Given the description of an element on the screen output the (x, y) to click on. 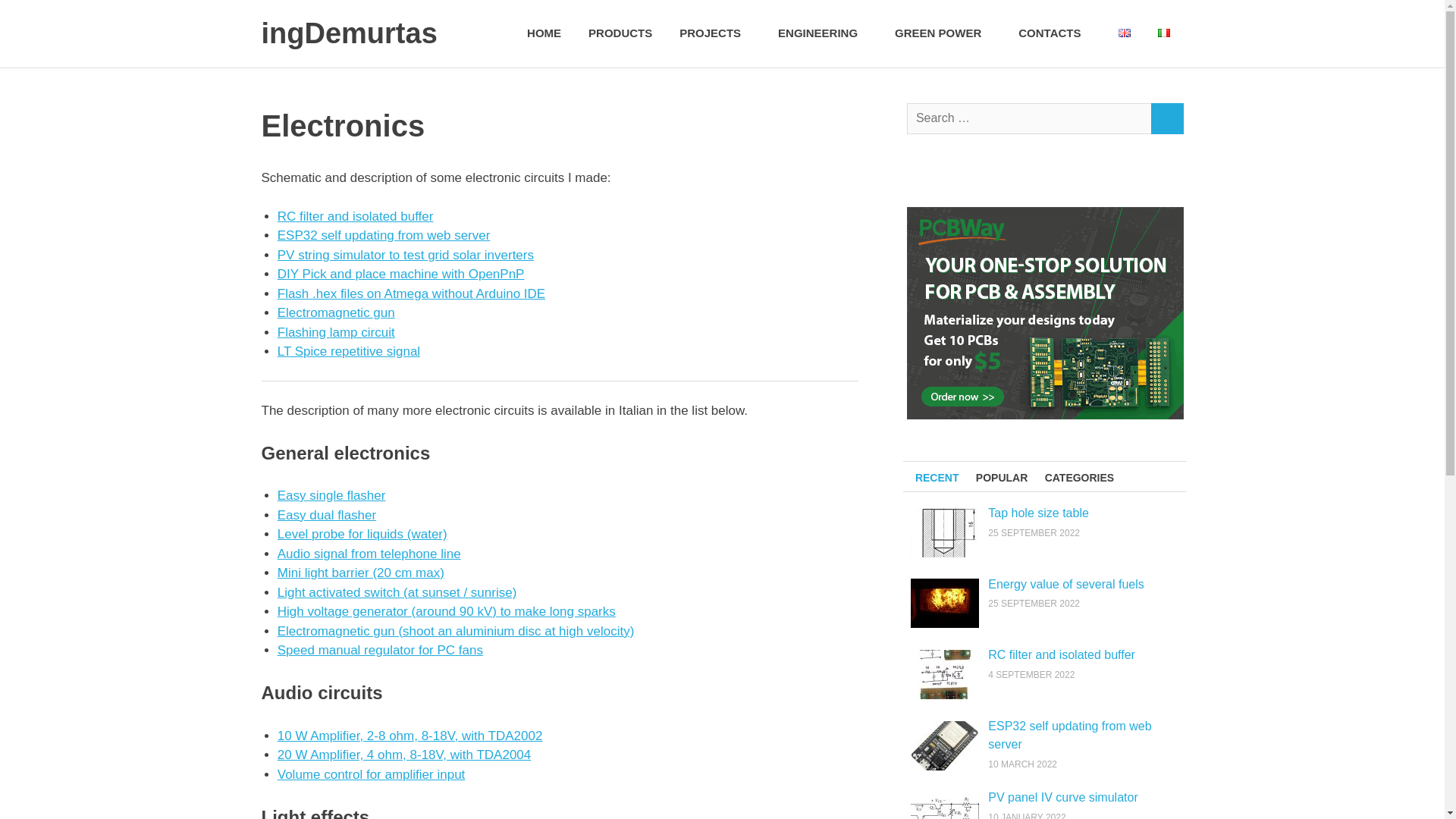
Tap hole size table (1038, 512)
PV string simulator to test grid solar inverters (406, 254)
CONTACTS (1053, 33)
Electromagnetic gun (336, 312)
ENGINEERING (822, 33)
Flash .hex files on Atmega without Arduino IDE (411, 293)
PROJECTS (714, 33)
Easy dual flasher (326, 514)
PV panel IV curve simulator (1062, 797)
HOME (544, 33)
